Given the description of an element on the screen output the (x, y) to click on. 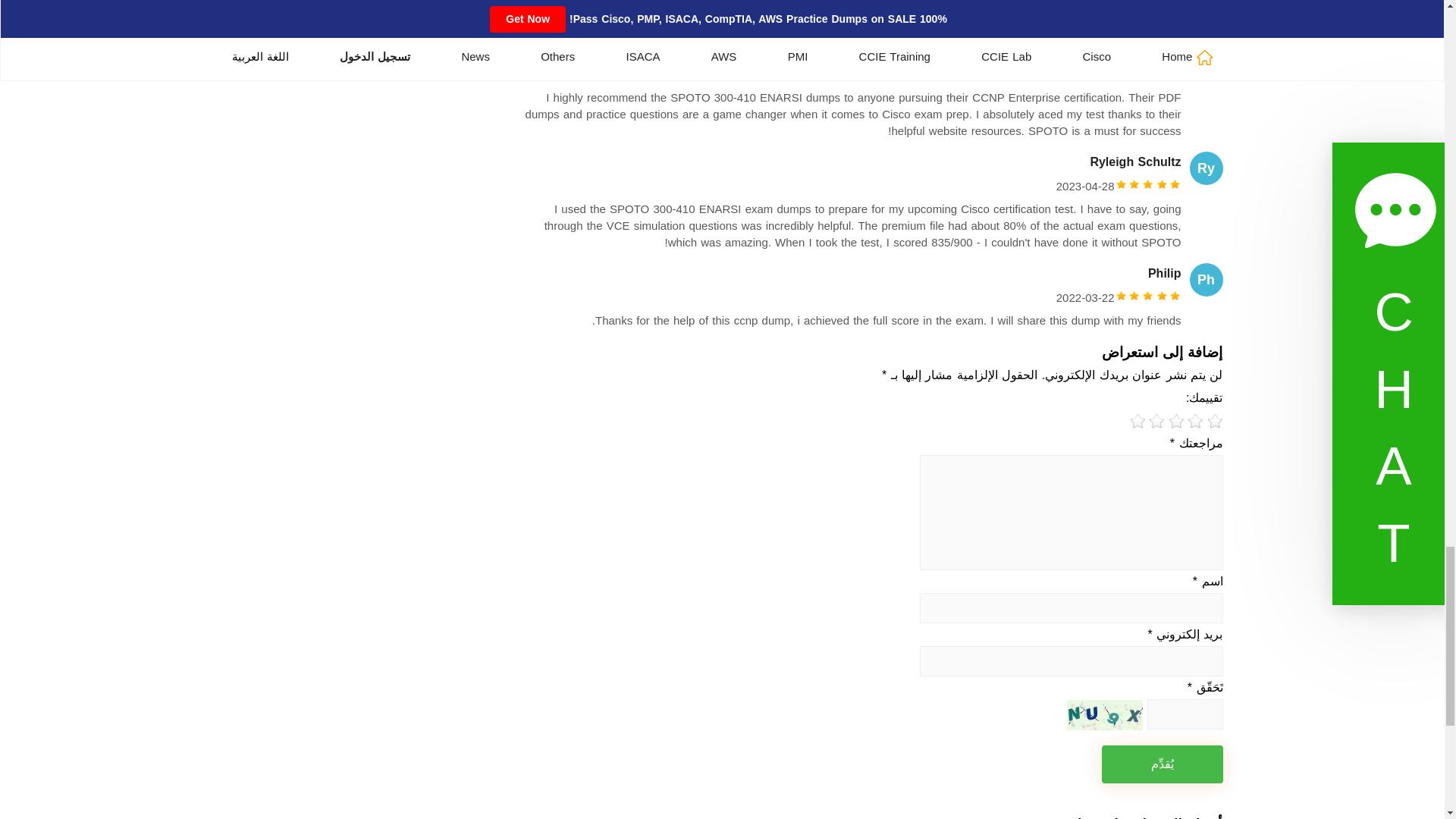
poor (1196, 421)
good (1157, 421)
bad (1215, 421)
regular (1177, 421)
gorgeous (1138, 421)
